Given the description of an element on the screen output the (x, y) to click on. 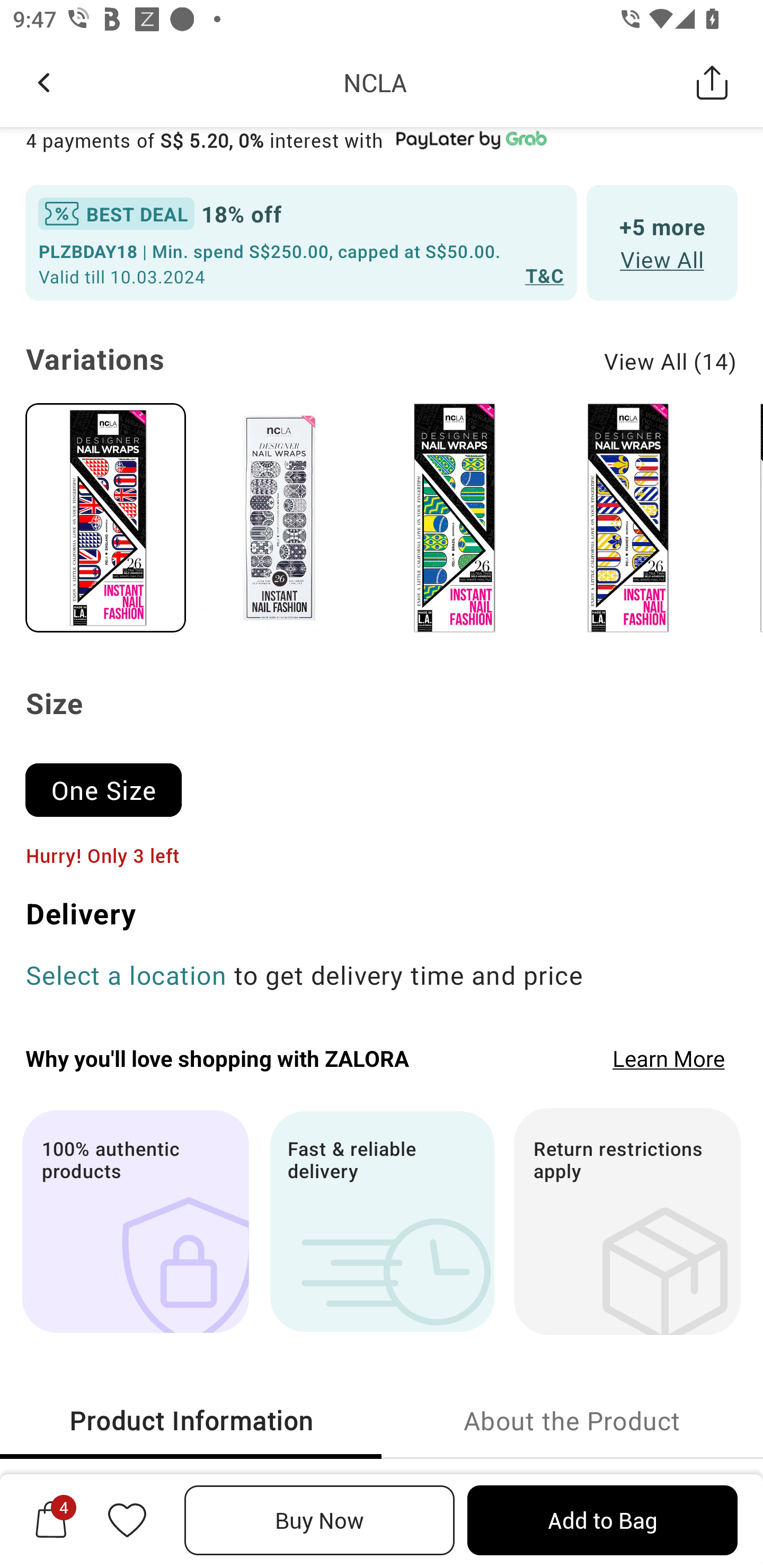
NCLA (375, 82)
Share this Product (711, 82)
+5 more
View All (661, 243)
T&C (544, 274)
View All (14) (670, 361)
One Size (111, 781)
Learn More (668, 1057)
100% authentic products (135, 1221)
Fast & reliable delivery (381, 1221)
Return restrictions apply (627, 1221)
About the Product (572, 1420)
Buy Now (319, 1519)
Add to Bag (601, 1519)
4 (50, 1520)
